Given the description of an element on the screen output the (x, y) to click on. 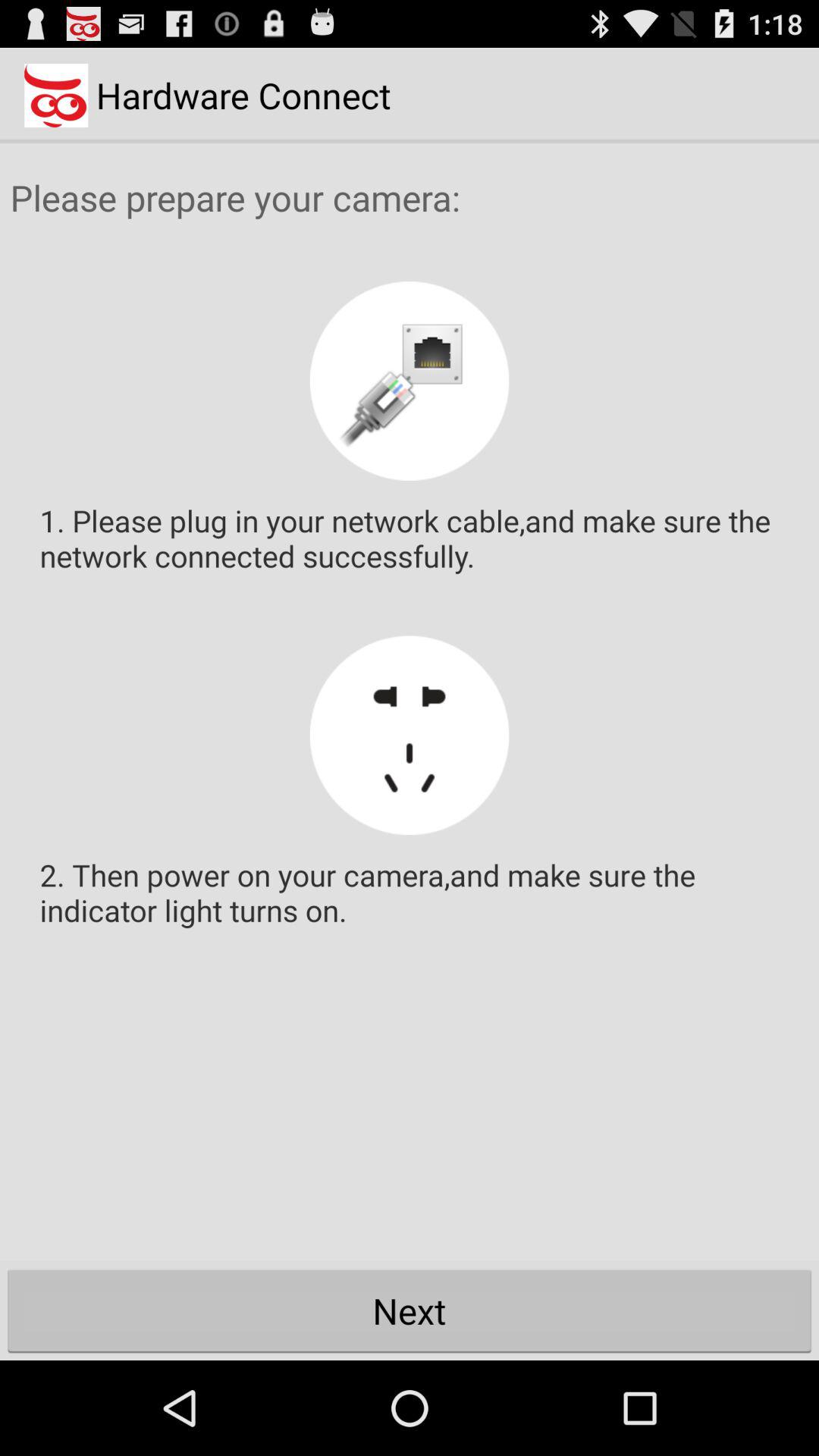
tap the item at the bottom (409, 1310)
